Given the description of an element on the screen output the (x, y) to click on. 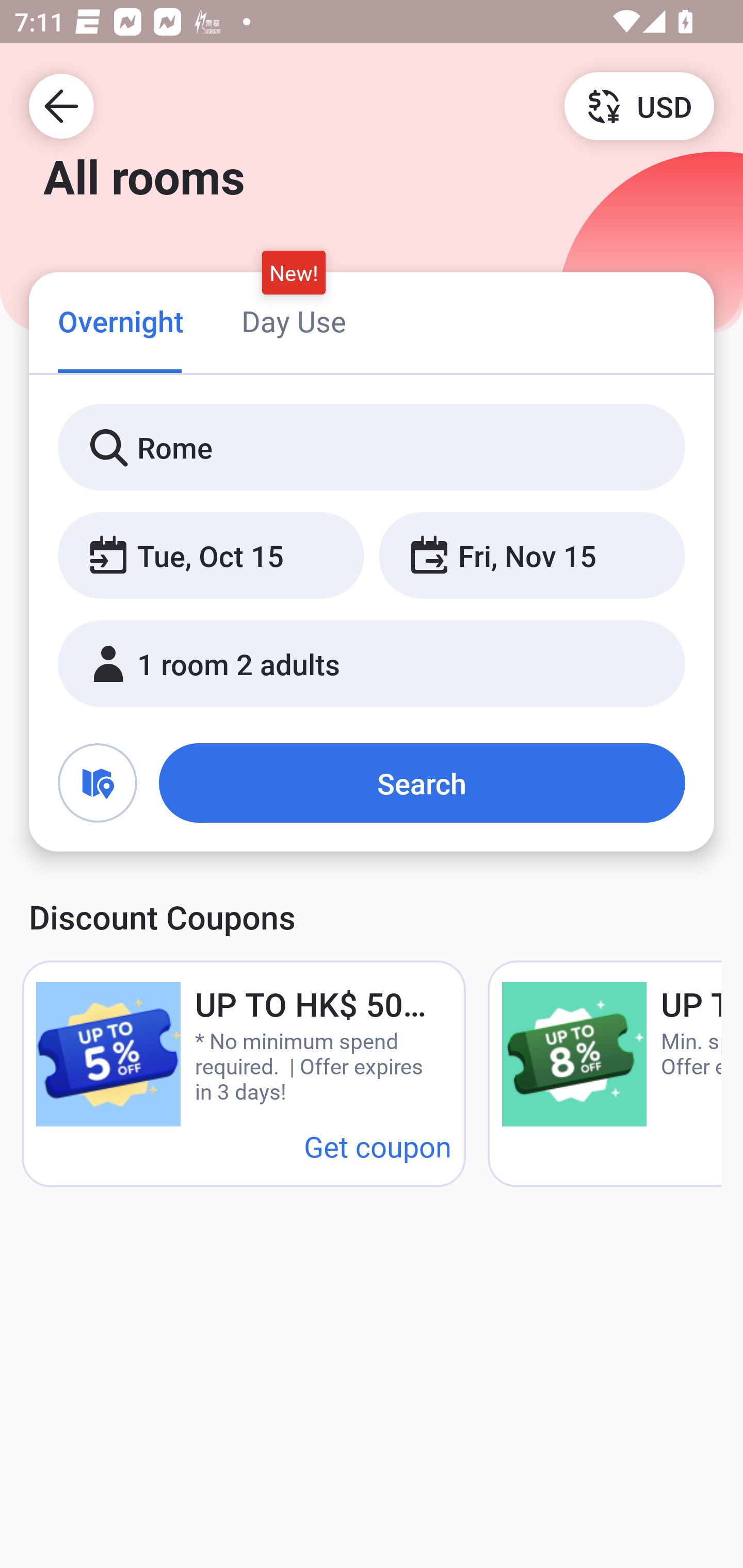
USD (639, 105)
New! (294, 272)
Day Use (293, 321)
Rome (371, 447)
Tue, Oct 15 (210, 555)
Fri, Nov 15 (531, 555)
1 room 2 adults (371, 663)
Search (422, 783)
Get coupon (377, 1146)
